Given the description of an element on the screen output the (x, y) to click on. 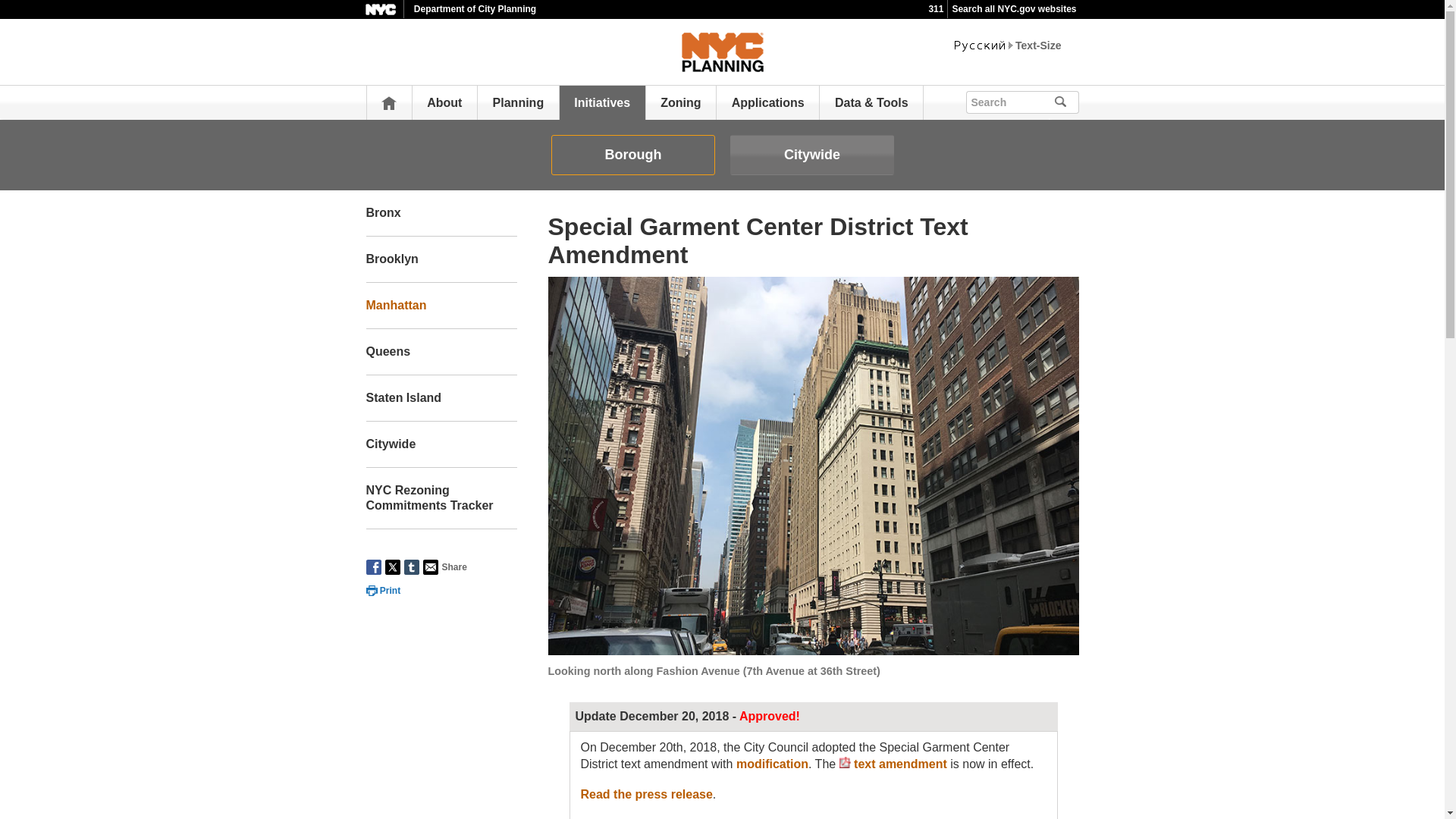
Brooklyn (440, 259)
Queens (440, 352)
Bronx (440, 213)
311 (935, 9)
submit (1066, 101)
Applications (768, 102)
submit (1066, 101)
About (443, 102)
submit (1081, 100)
submit (1066, 101)
Manhattan (440, 305)
Read the press release (646, 793)
Planning (518, 102)
Search all NYC.gov websites (1013, 9)
Borough (632, 155)
